Given the description of an element on the screen output the (x, y) to click on. 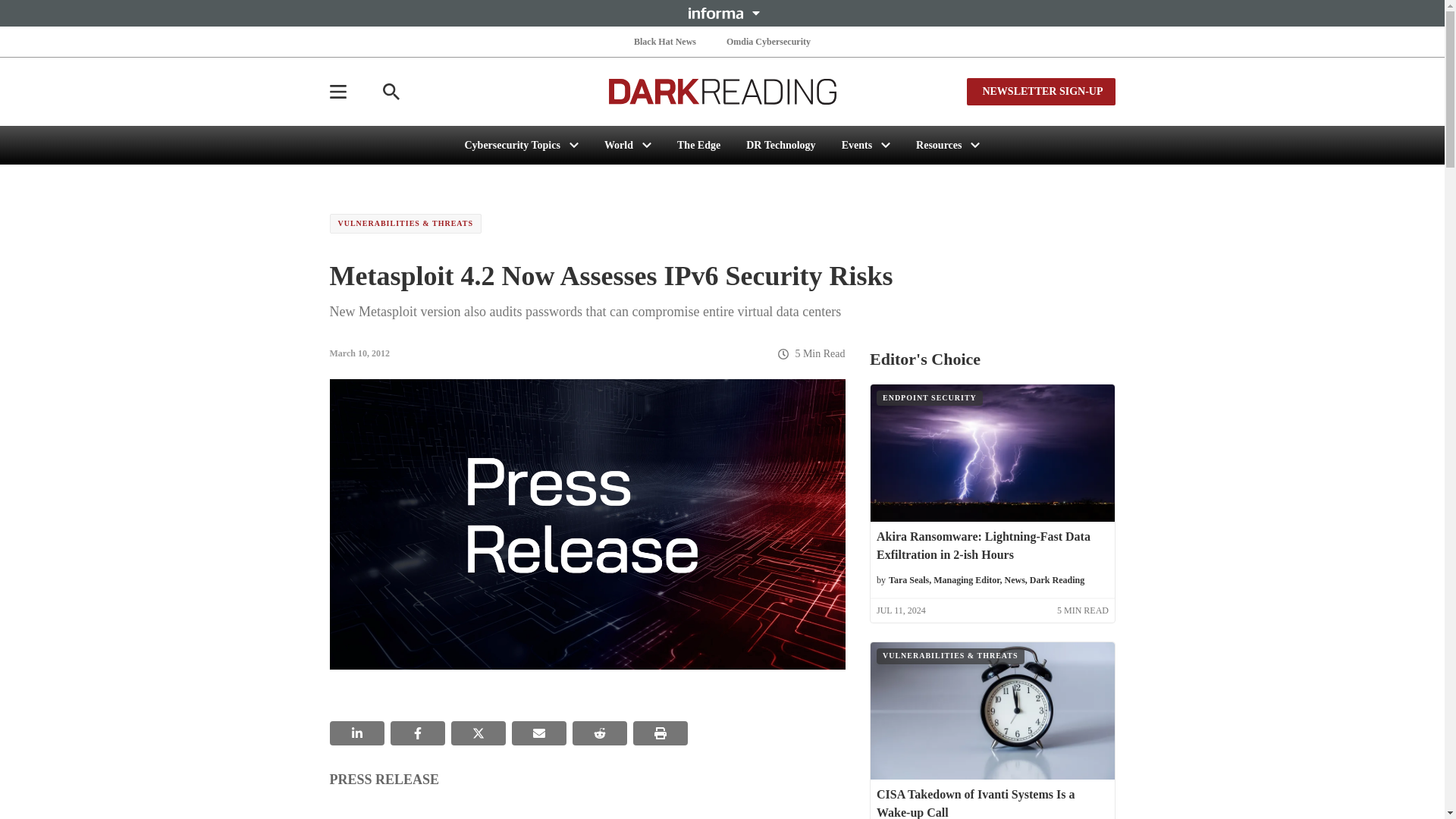
NEWSLETTER SIGN-UP (1040, 90)
Black Hat News (664, 41)
Dark Reading Logo (721, 91)
Omdia Cybersecurity (768, 41)
